Given the description of an element on the screen output the (x, y) to click on. 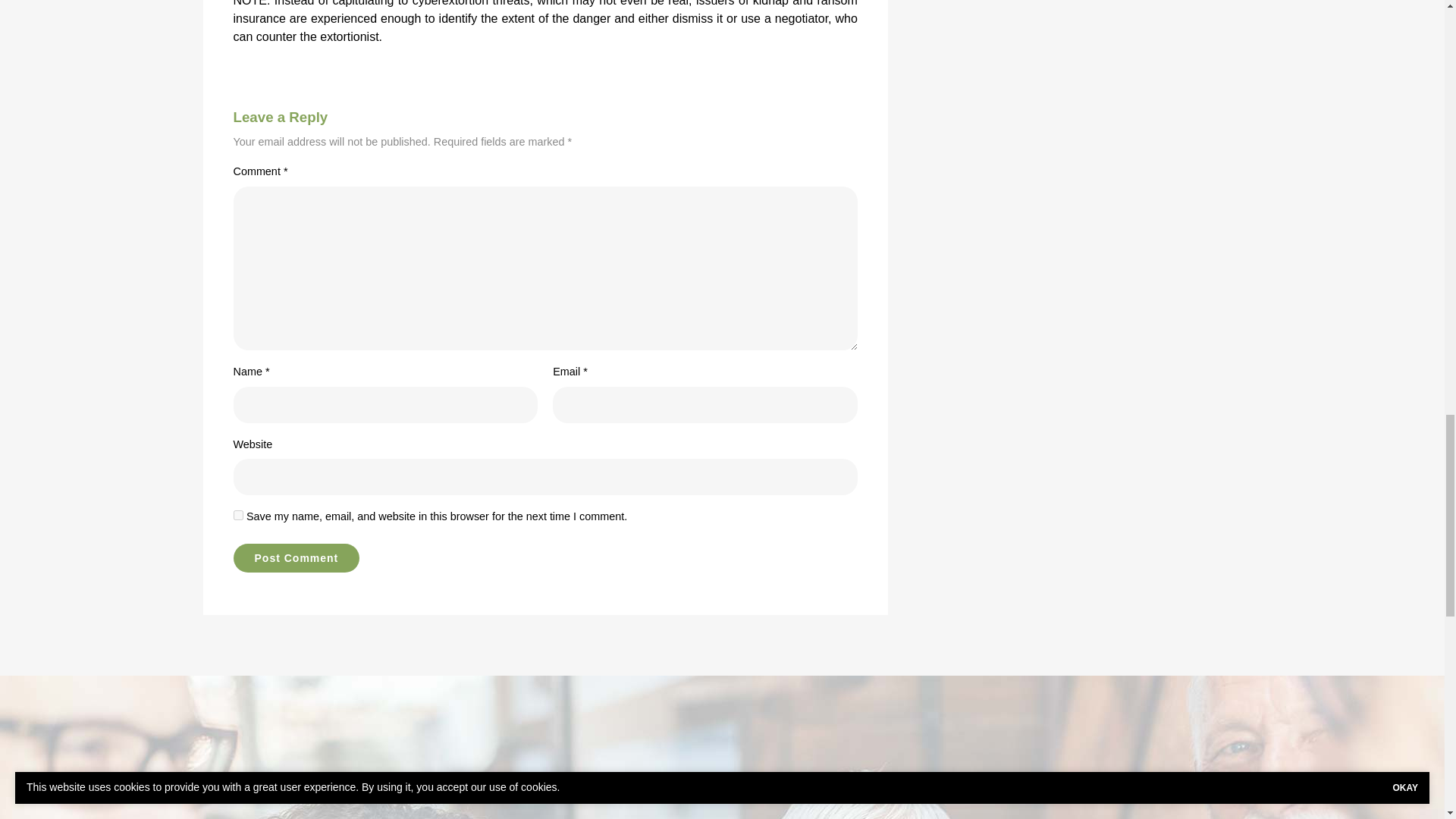
Post Comment (295, 557)
yes (237, 515)
